Given the description of an element on the screen output the (x, y) to click on. 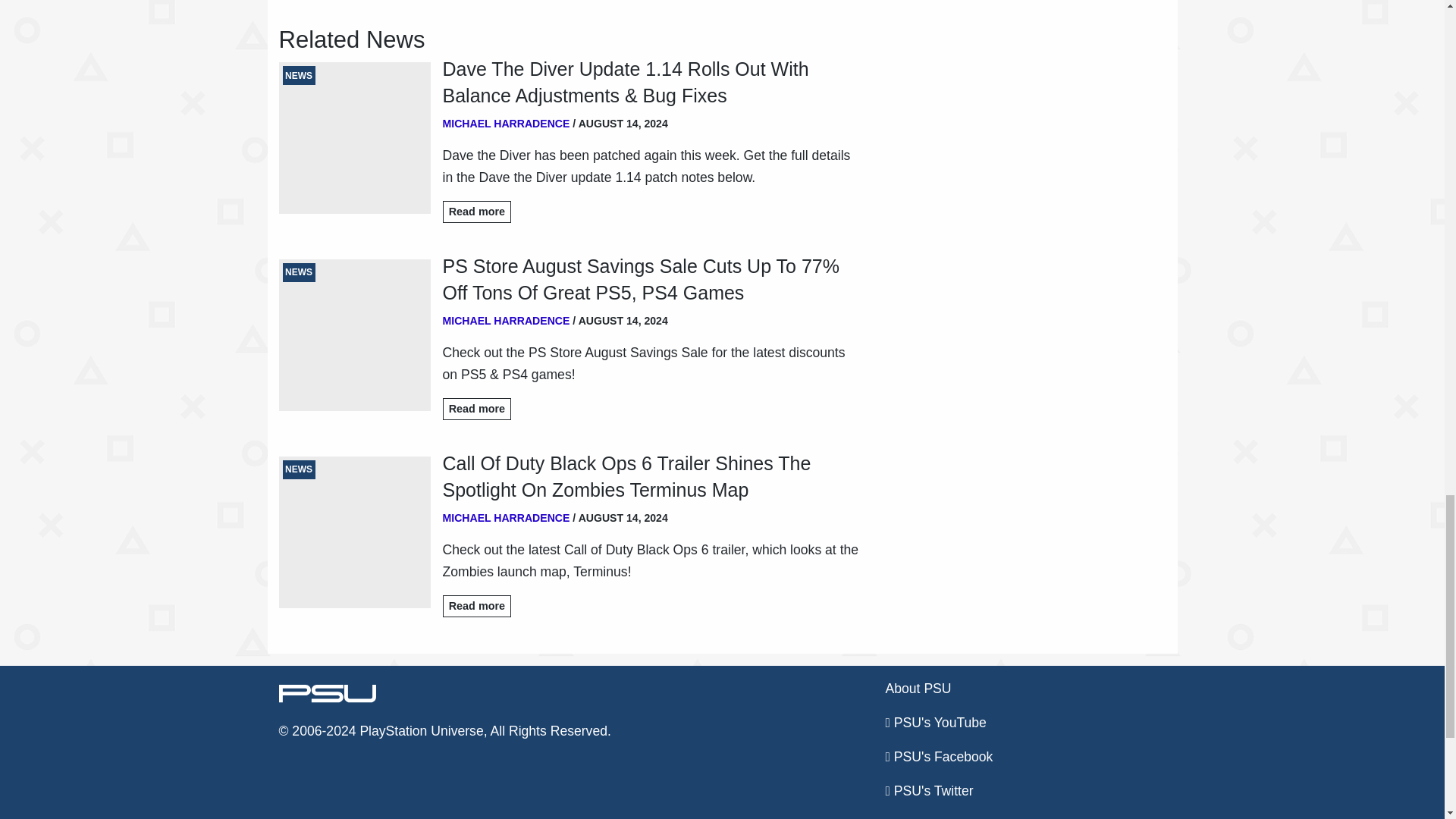
NEWS (354, 137)
We Got Uncomfortable Watching These Video Game Scenes (768, 2)
MICHAEL HARRADENCE (506, 123)
Read more (477, 211)
NEWS (354, 335)
